Given the description of an element on the screen output the (x, y) to click on. 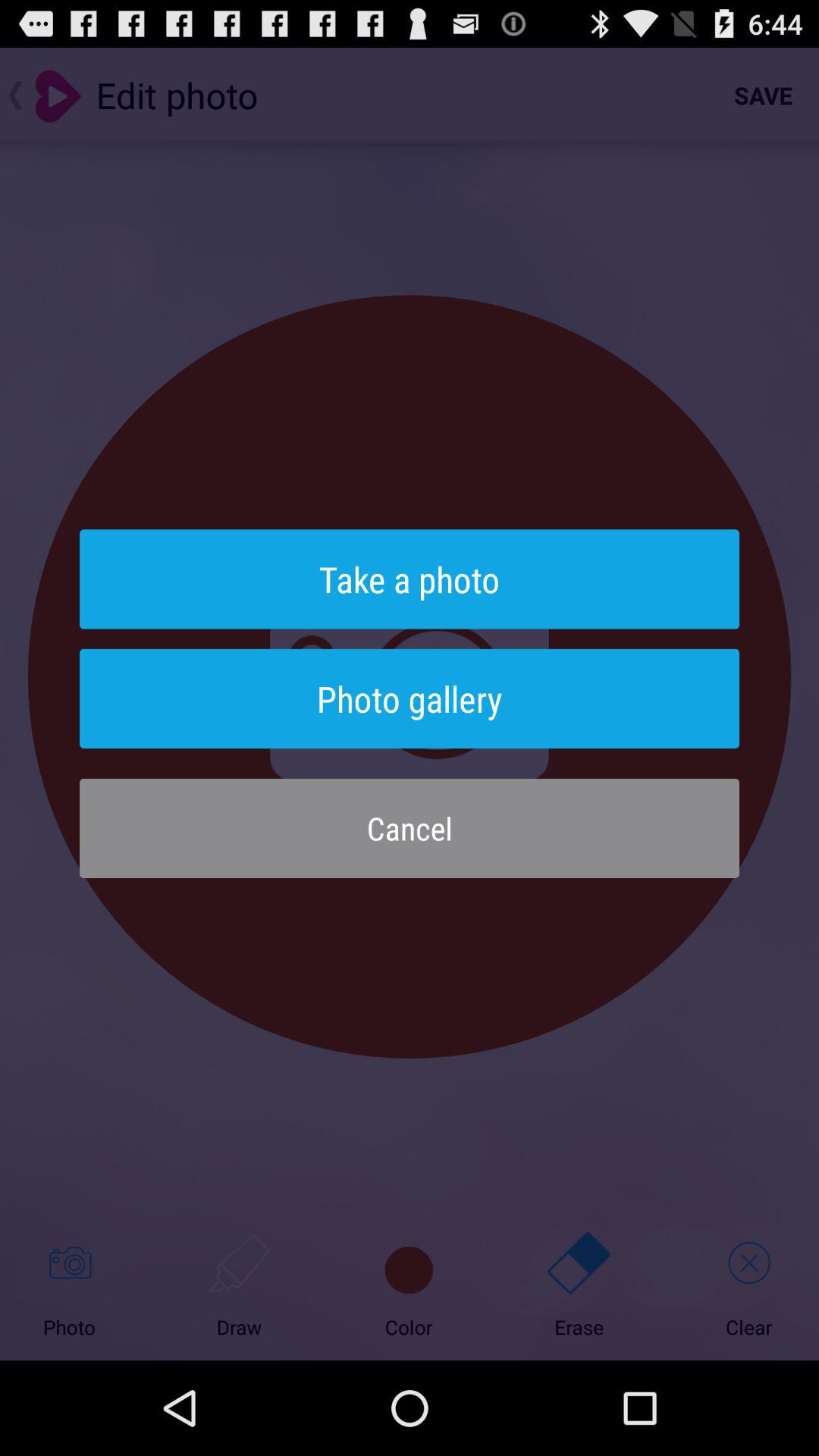
scroll until the cancel button (409, 828)
